Given the description of an element on the screen output the (x, y) to click on. 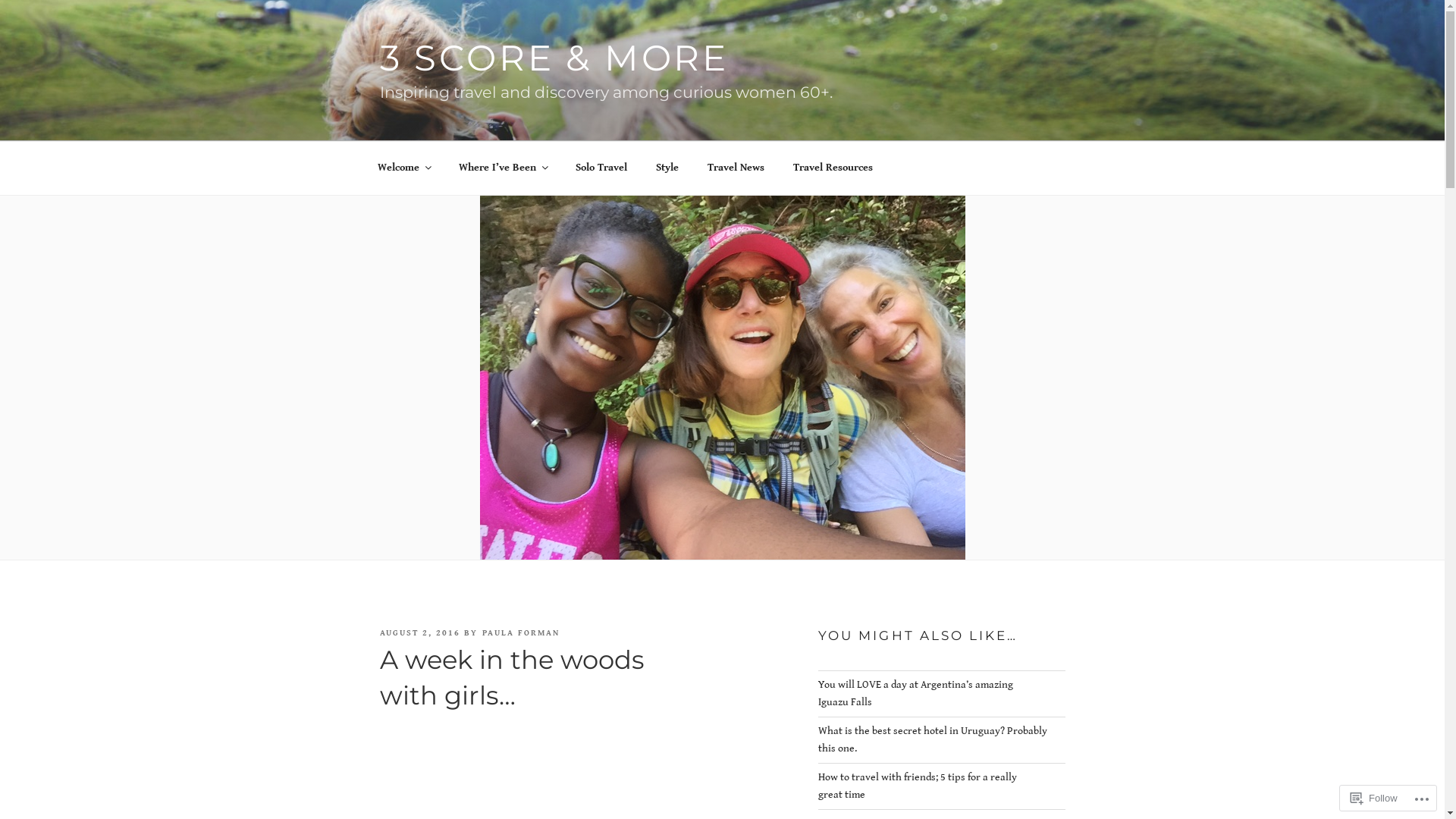
Follow Element type: text (1373, 797)
AUGUST 2, 2016 Element type: text (419, 632)
Travel Resources Element type: text (832, 167)
Style Element type: text (667, 167)
What is the best secret hotel in Uruguay? Probably this one. Element type: text (932, 739)
PAULA FORMAN Element type: text (521, 632)
Solo Travel Element type: text (601, 167)
3 SCORE & MORE Element type: text (553, 57)
How to travel with friends; 5 tips for a really great time Element type: text (917, 785)
Welcome Element type: text (403, 167)
Travel News Element type: text (736, 167)
